Given the description of an element on the screen output the (x, y) to click on. 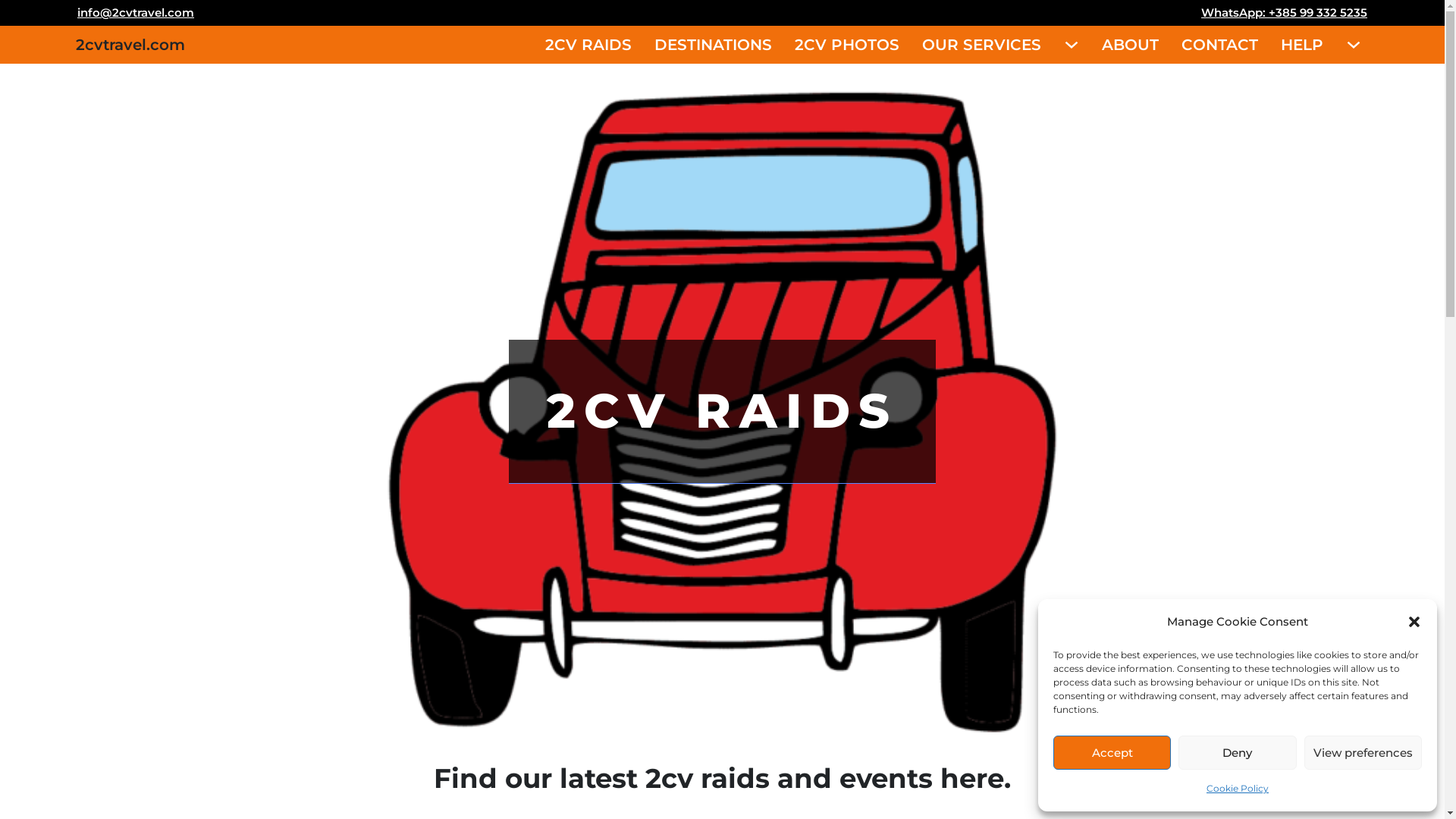
View preferences Element type: text (1362, 752)
CONTACT Element type: text (1219, 44)
ABOUT Element type: text (1130, 44)
OUR SERVICES Element type: text (981, 44)
info@2cvtravel.com Element type: text (135, 12)
2cvtravel.com Element type: text (130, 44)
Deny Element type: text (1236, 752)
DESTINATIONS Element type: text (712, 44)
2CV PHOTOS Element type: text (846, 44)
2CV RAIDS Element type: text (588, 44)
Cookie Policy Element type: text (1237, 788)
HELP Element type: text (1301, 44)
Accept Element type: text (1111, 752)
WhatsApp: +385 99 332 5235 Element type: text (1283, 12)
